Given the description of an element on the screen output the (x, y) to click on. 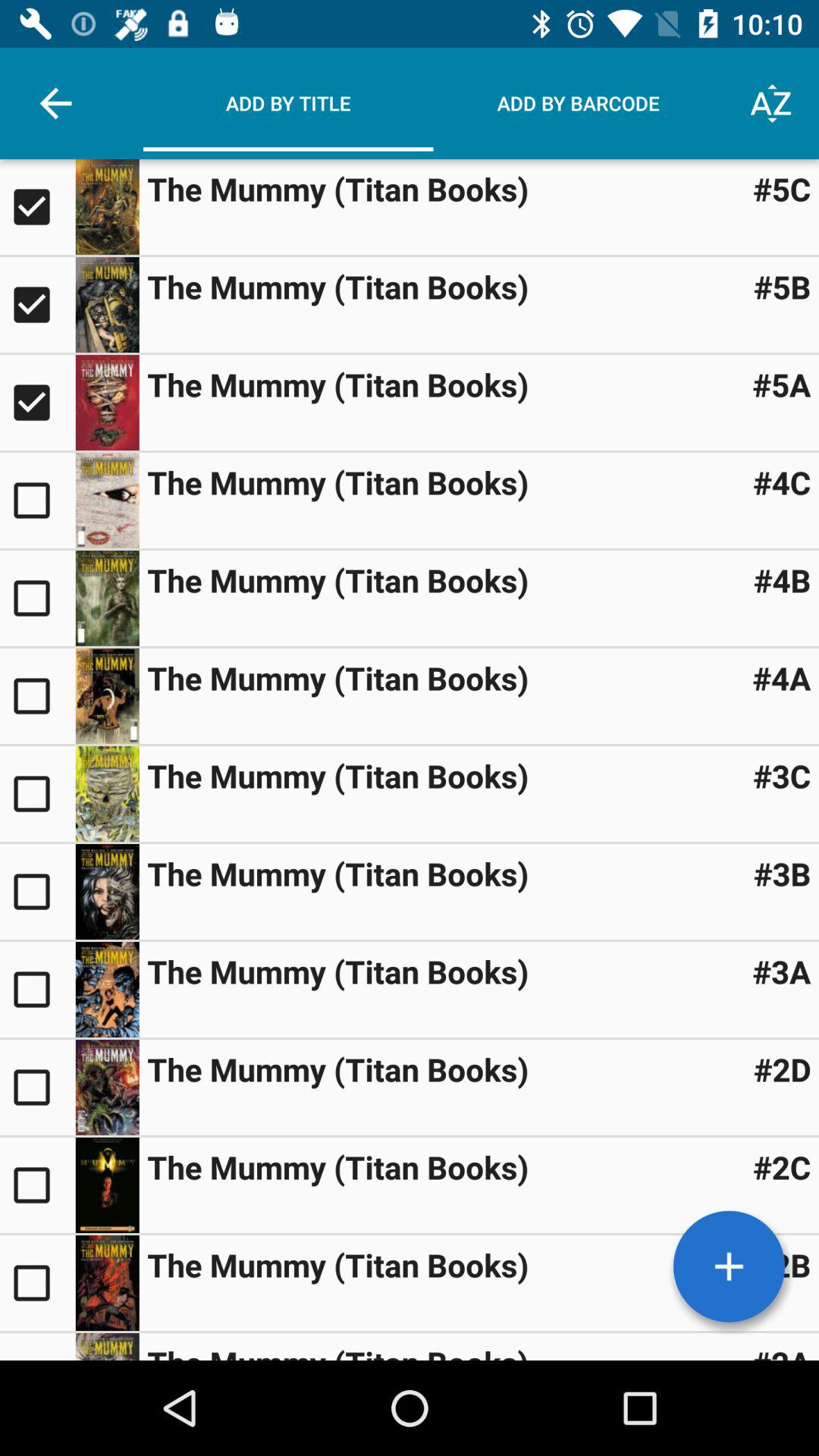
uncheck third thumbnail (37, 402)
